Given the description of an element on the screen output the (x, y) to click on. 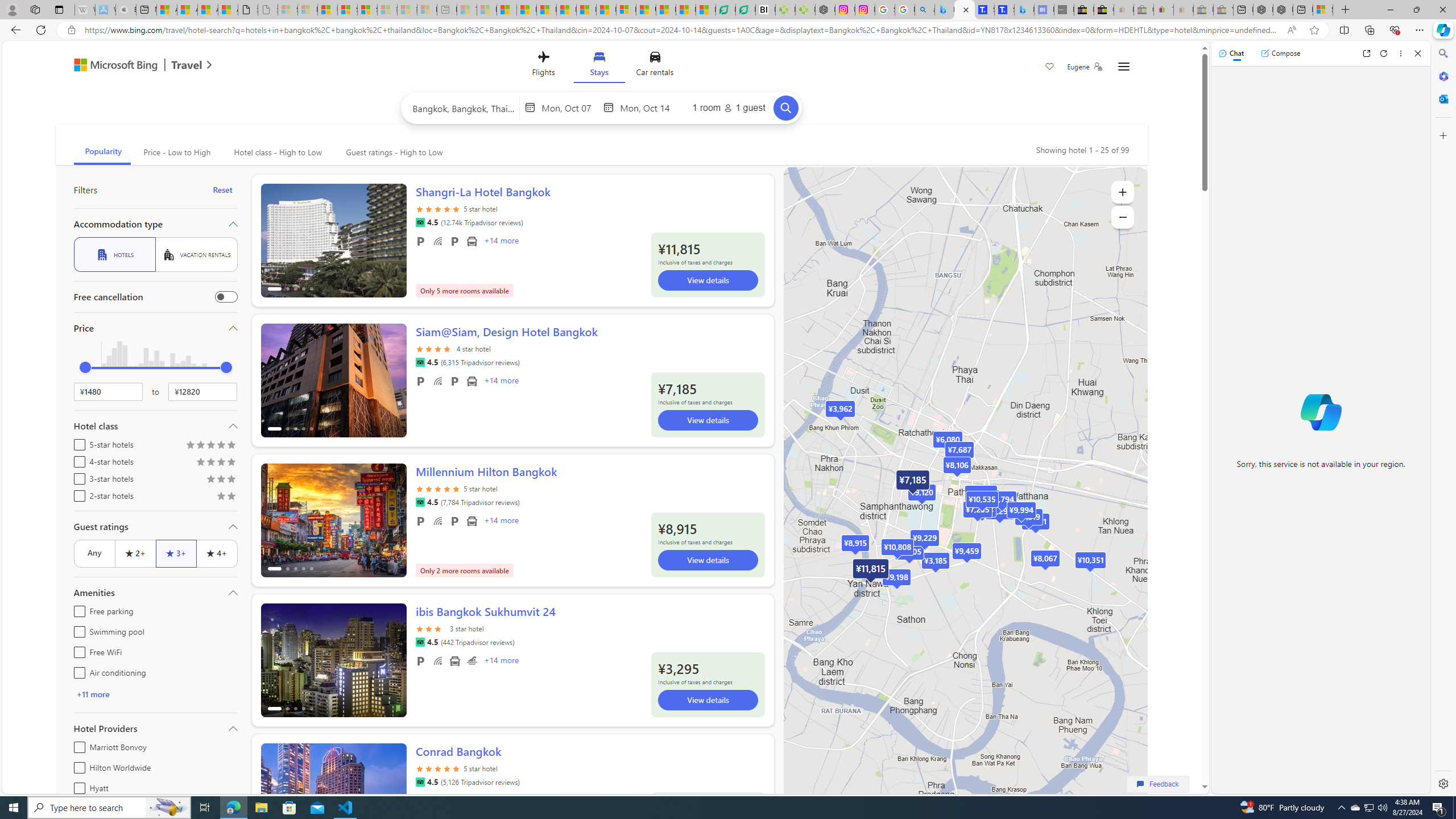
Stays (598, 65)
Sign in to your Microsoft account - Sleeping (287, 9)
Safety in Our Products - Google Safety Center (884, 9)
Travel (186, 65)
Air conditioning (76, 670)
Chat (1231, 52)
1 room1 guest (728, 107)
Free WiFi (437, 660)
star rating (437, 768)
Marriott Bonvoy (76, 745)
